Given the description of an element on the screen output the (x, y) to click on. 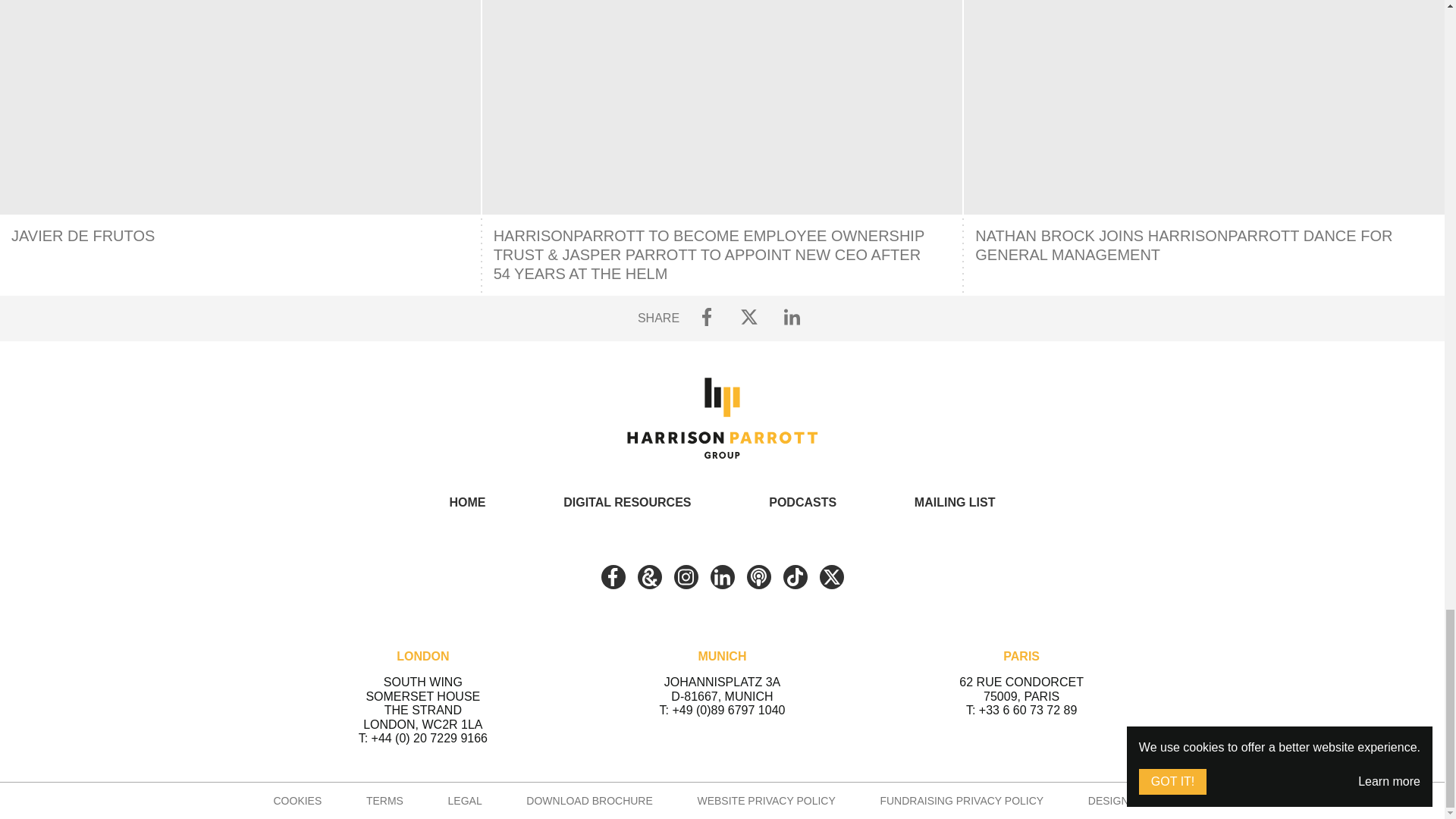
TWITTER (830, 576)
Twitter (830, 576)
WEBSITE PRIVACY POLICY (765, 800)
Podcast (757, 576)
INSTAGRAM (684, 576)
LINKEDIN (721, 576)
FUNDRAISING PRIVACY POLICY (961, 800)
TIKTOK (794, 576)
MAILING LIST (954, 502)
TERMS (384, 800)
